Given the description of an element on the screen output the (x, y) to click on. 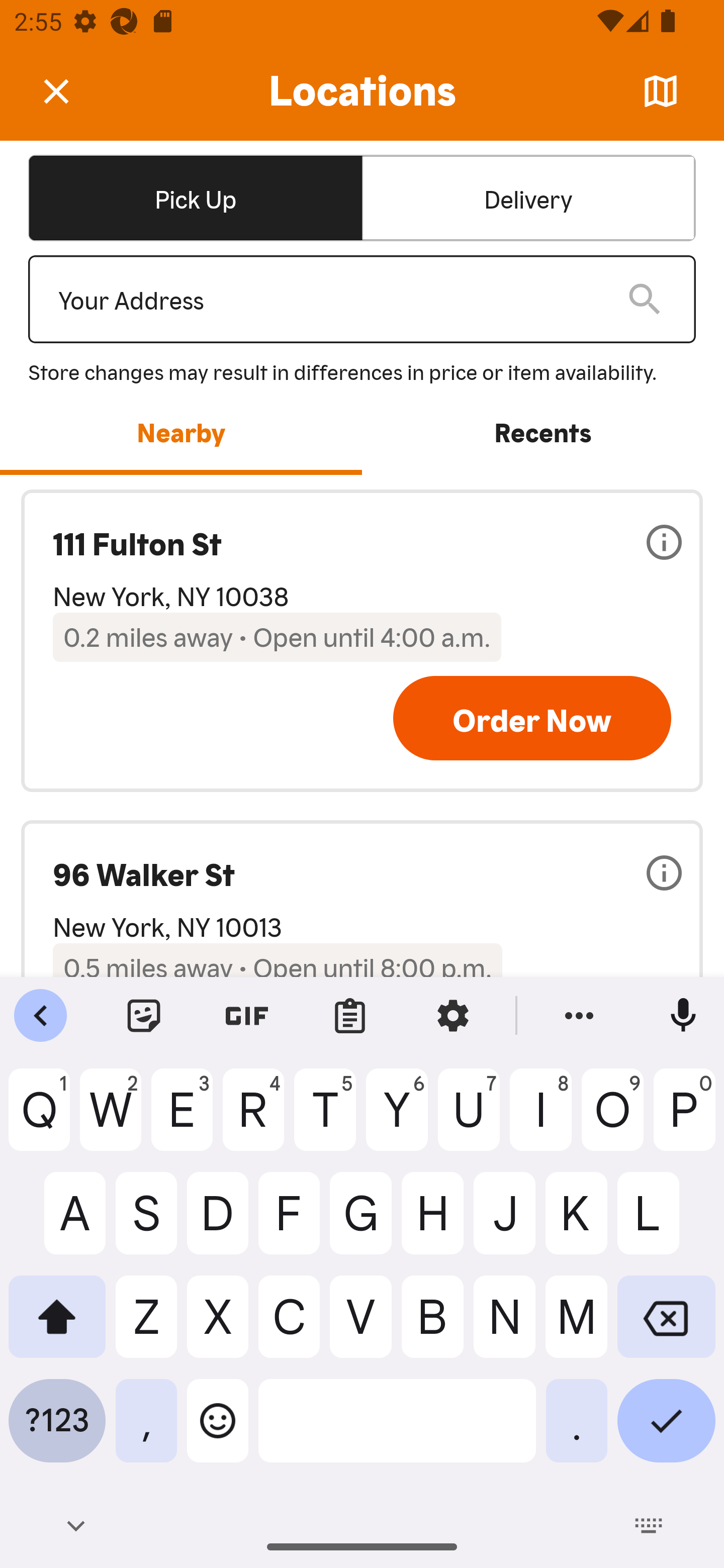
 (70, 90)
Map 󰦂 (660, 91)
Locations (362, 91)
Pick UpSelected Pick UpSelected Pick Up (195, 197)
Delivery Delivery Delivery (528, 197)
Your Address (327, 299)
Nearby (181, 430)
Recents (543, 430)
Order Now (532, 717)
